Given the description of an element on the screen output the (x, y) to click on. 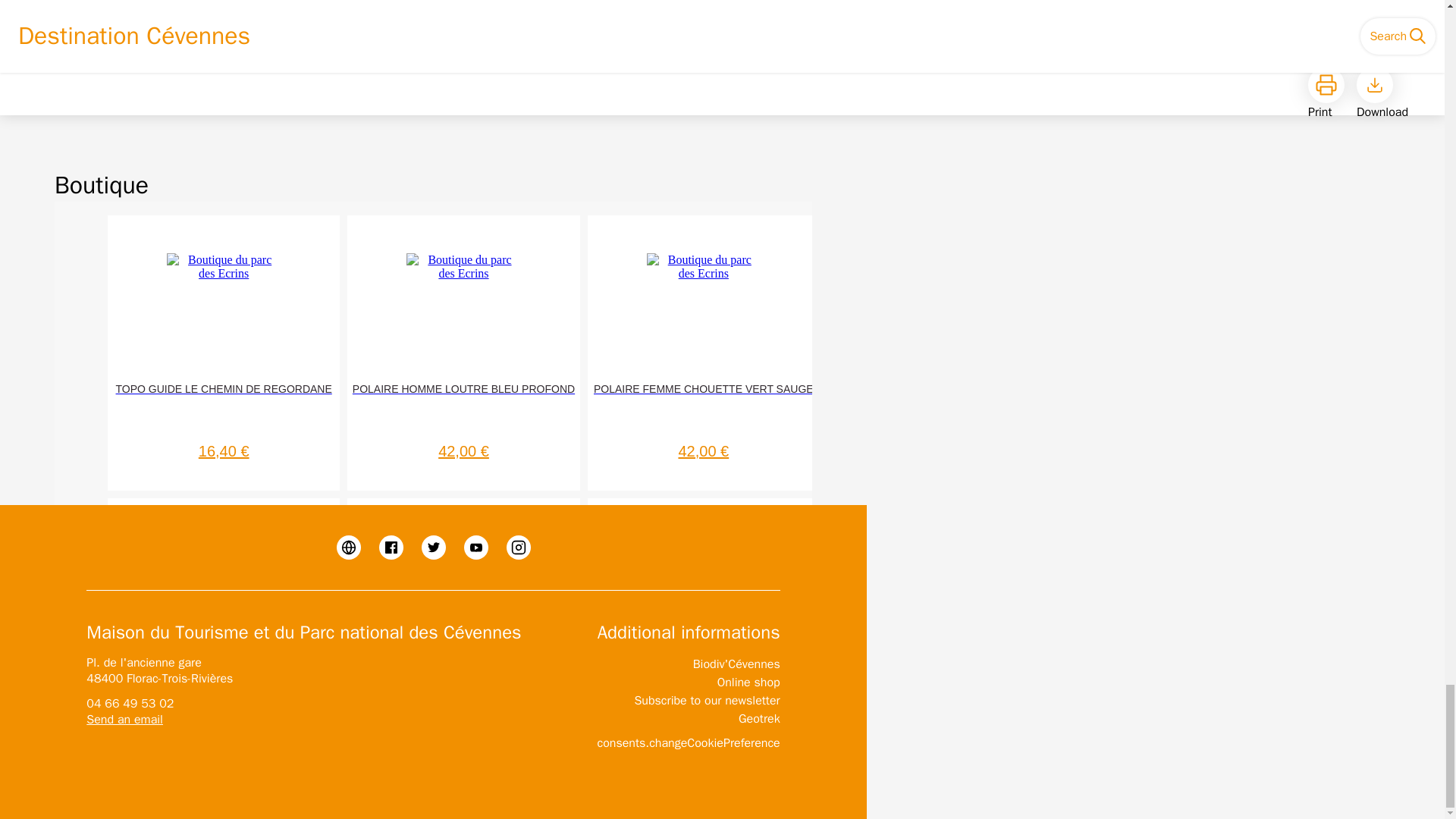
Send an email (124, 719)
Report (765, 38)
